Given the description of an element on the screen output the (x, y) to click on. 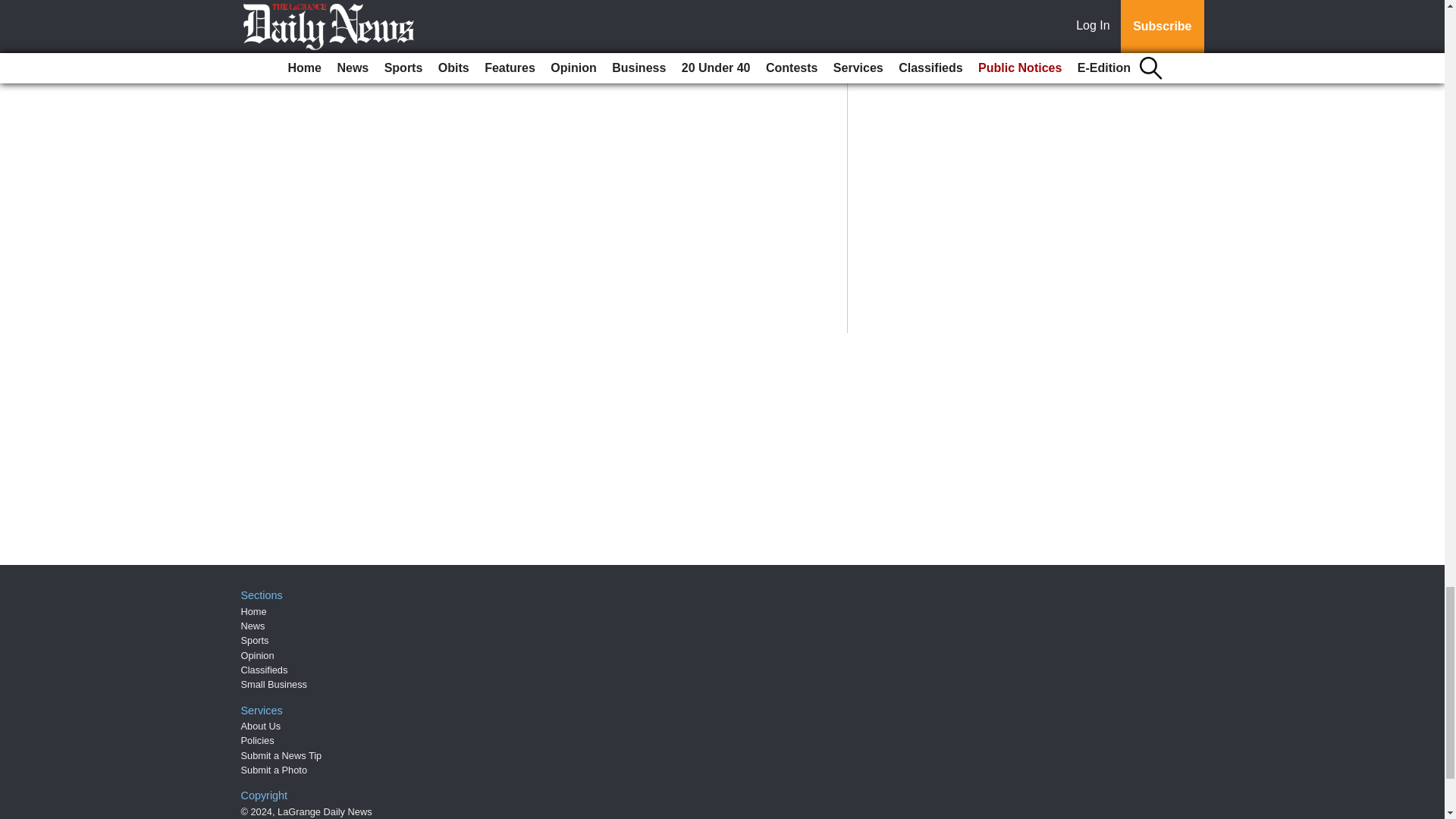
Opinion (258, 655)
News (252, 625)
Home (253, 611)
Sports (255, 640)
